Given the description of an element on the screen output the (x, y) to click on. 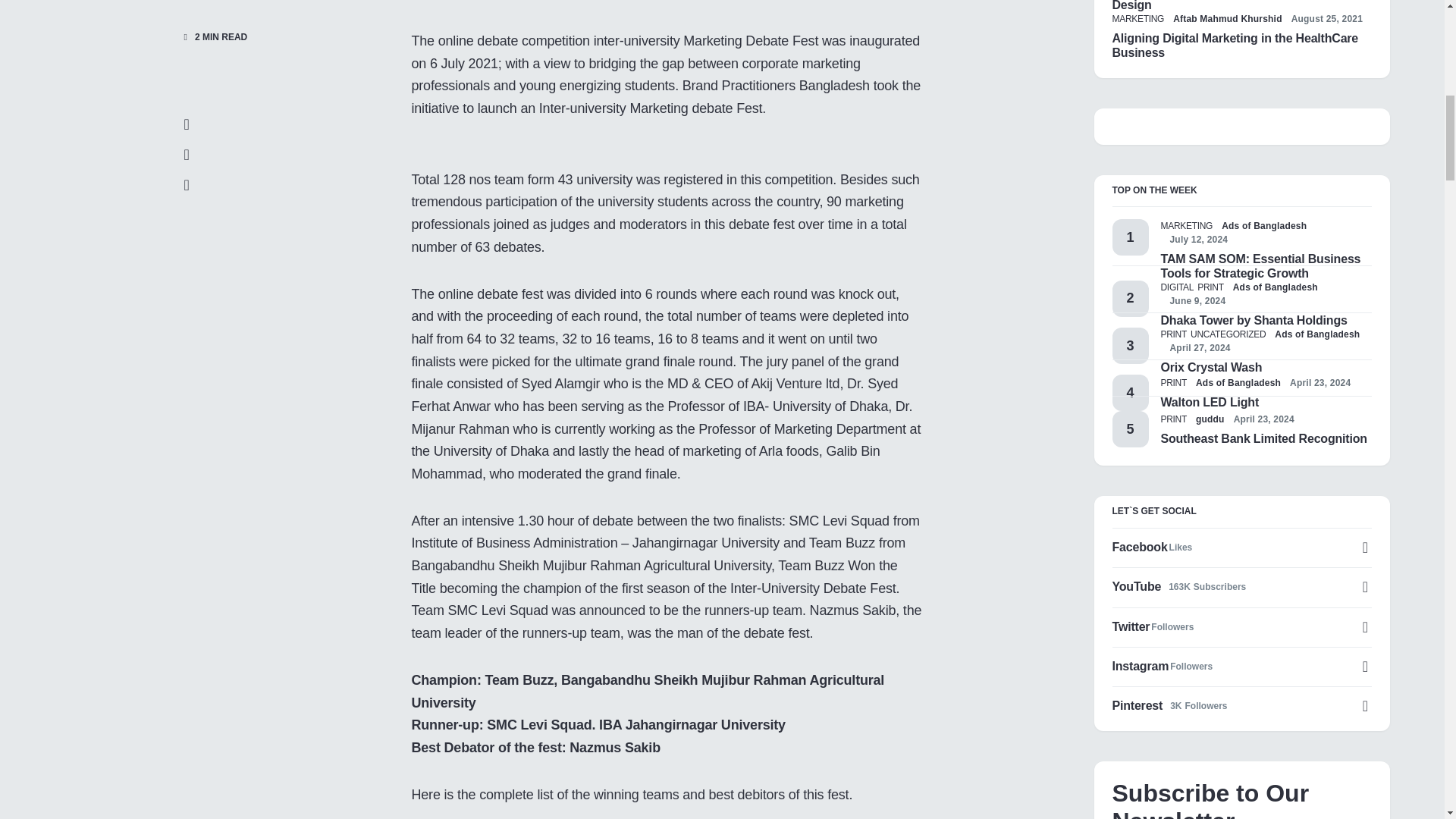
View all posts by Ads of Bangladesh (1238, 382)
View all posts by Ads of Bangladesh (1317, 334)
View all posts by Ads of Bangladesh (1275, 287)
View all posts by guddu (1209, 418)
View all posts by Aftab Mahmud Khurshid (1227, 18)
View all posts by Ads of Bangladesh (1263, 225)
